Given the description of an element on the screen output the (x, y) to click on. 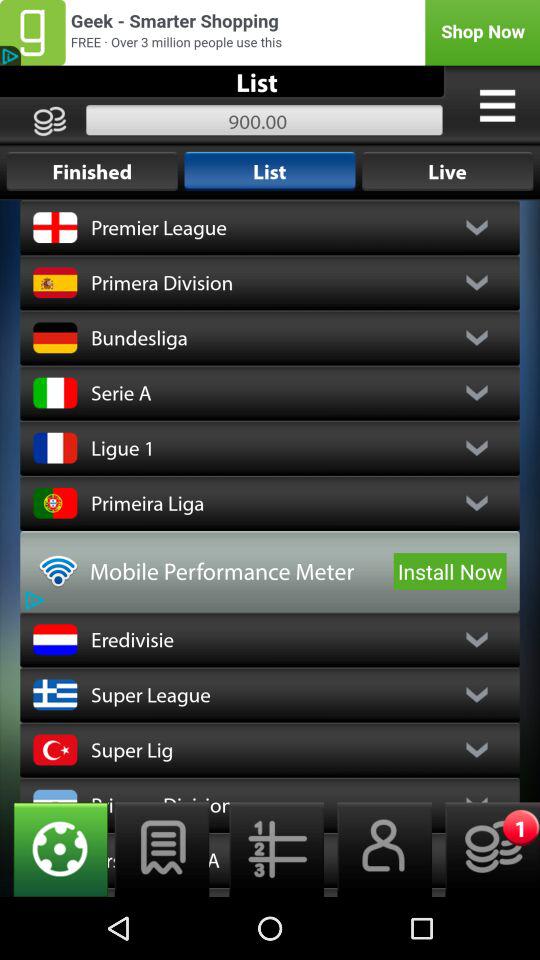
add list (161, 849)
